Given the description of an element on the screen output the (x, y) to click on. 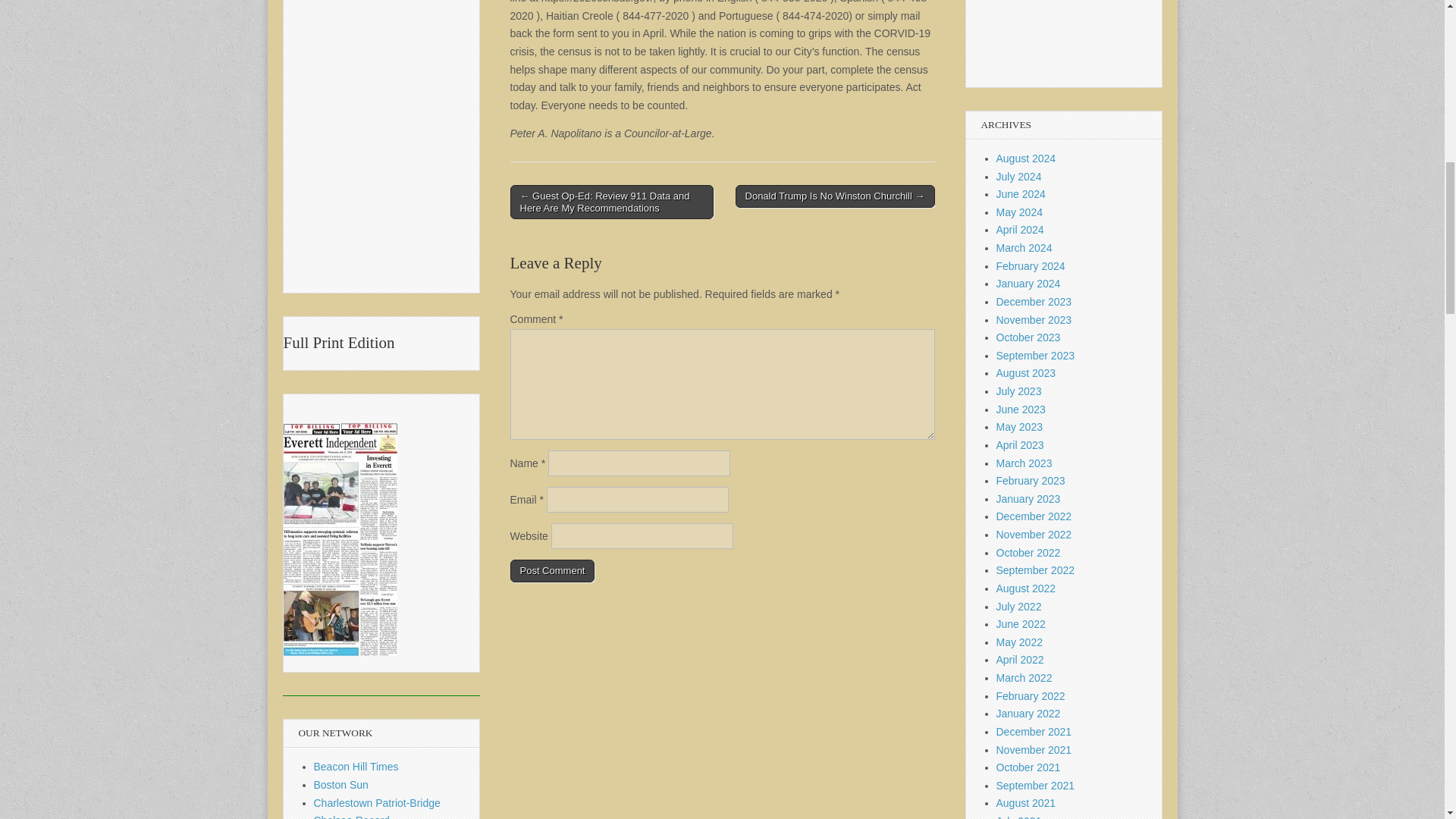
Charlestown Patriot-Bridge (377, 802)
Post Comment (551, 570)
Boston Sun (341, 784)
Post Comment (551, 570)
Beacon Hill Times (356, 766)
Chelsea Record (352, 816)
